Given the description of an element on the screen output the (x, y) to click on. 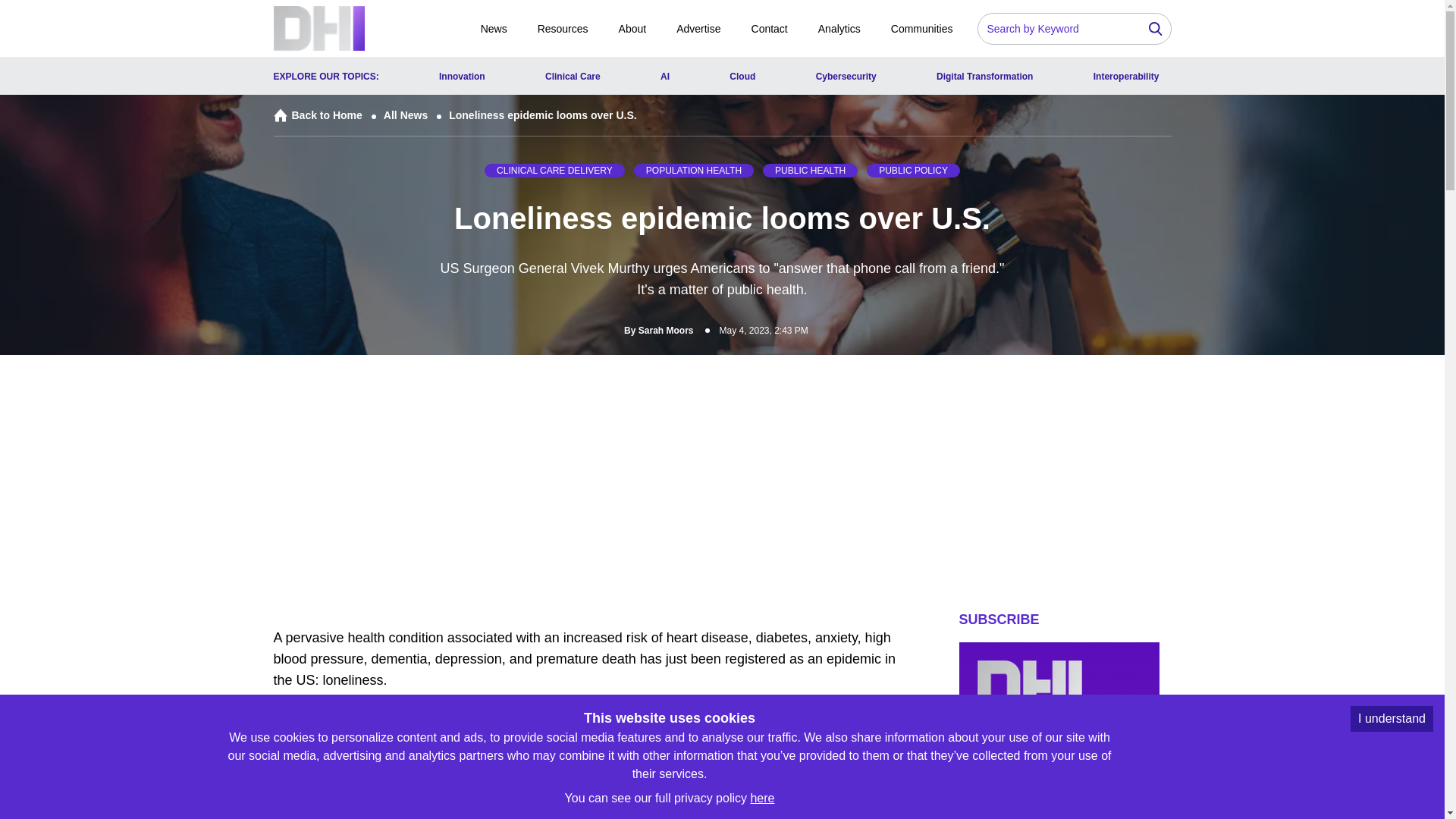
CLINICAL CARE DELIVERY (554, 169)
About (632, 27)
Resources (562, 27)
Clinical Care (571, 75)
Digital Transformation (984, 75)
News (493, 27)
All News (403, 115)
POPULATION HEALTH (693, 169)
Analytics (839, 27)
Interoperability (1125, 75)
